Given the description of an element on the screen output the (x, y) to click on. 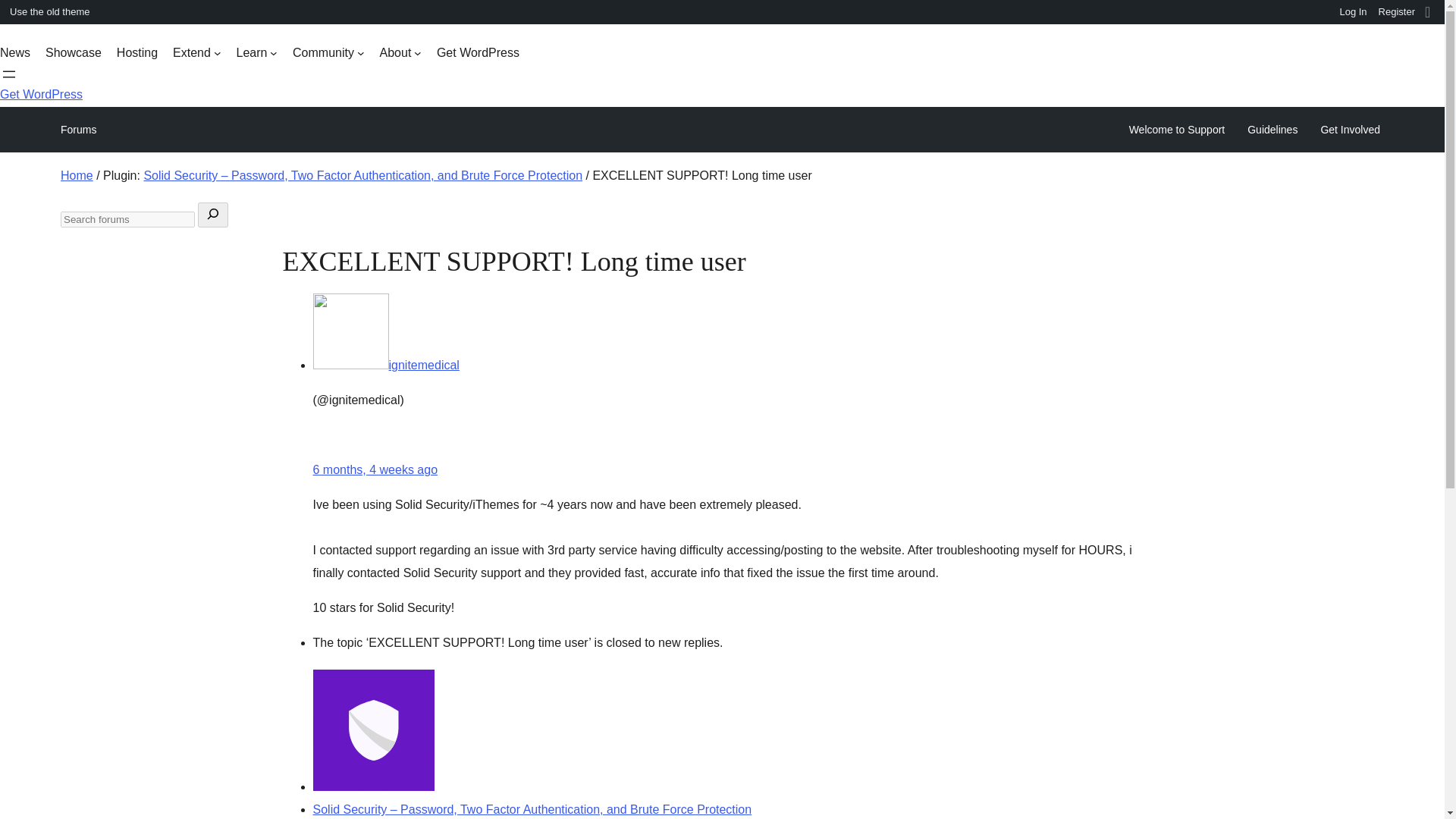
Forums (78, 129)
Learn (256, 52)
Use the old theme (48, 12)
Search (16, 13)
Get WordPress (477, 52)
News (15, 52)
Extend (197, 52)
Get WordPress (41, 93)
Log In (1353, 12)
Community (328, 52)
View ignitemedical's profile (385, 364)
Showcase (73, 52)
About (401, 52)
Register (1397, 12)
Hosting (136, 52)
